Given the description of an element on the screen output the (x, y) to click on. 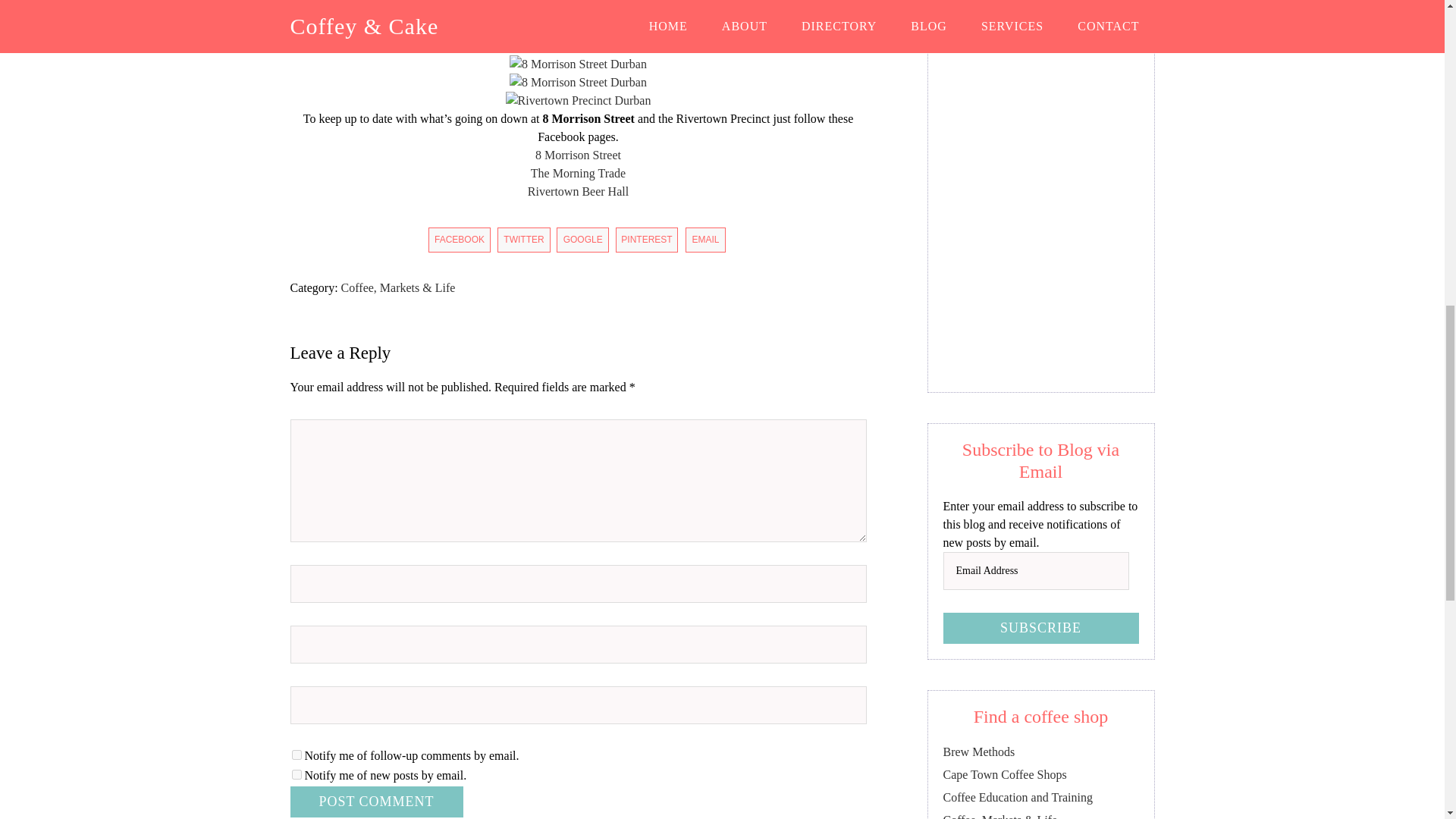
The Morning Trade (578, 173)
Click to share on Pinterest (646, 239)
GOOGLE (582, 239)
The Morning Trade  (577, 64)
The Morning Trade Market (577, 82)
Subscribe (1040, 627)
Subscribe (1040, 627)
subscribe (296, 755)
Rivertown Beer Hall (577, 100)
Durbanism Project (578, 45)
